Given the description of an element on the screen output the (x, y) to click on. 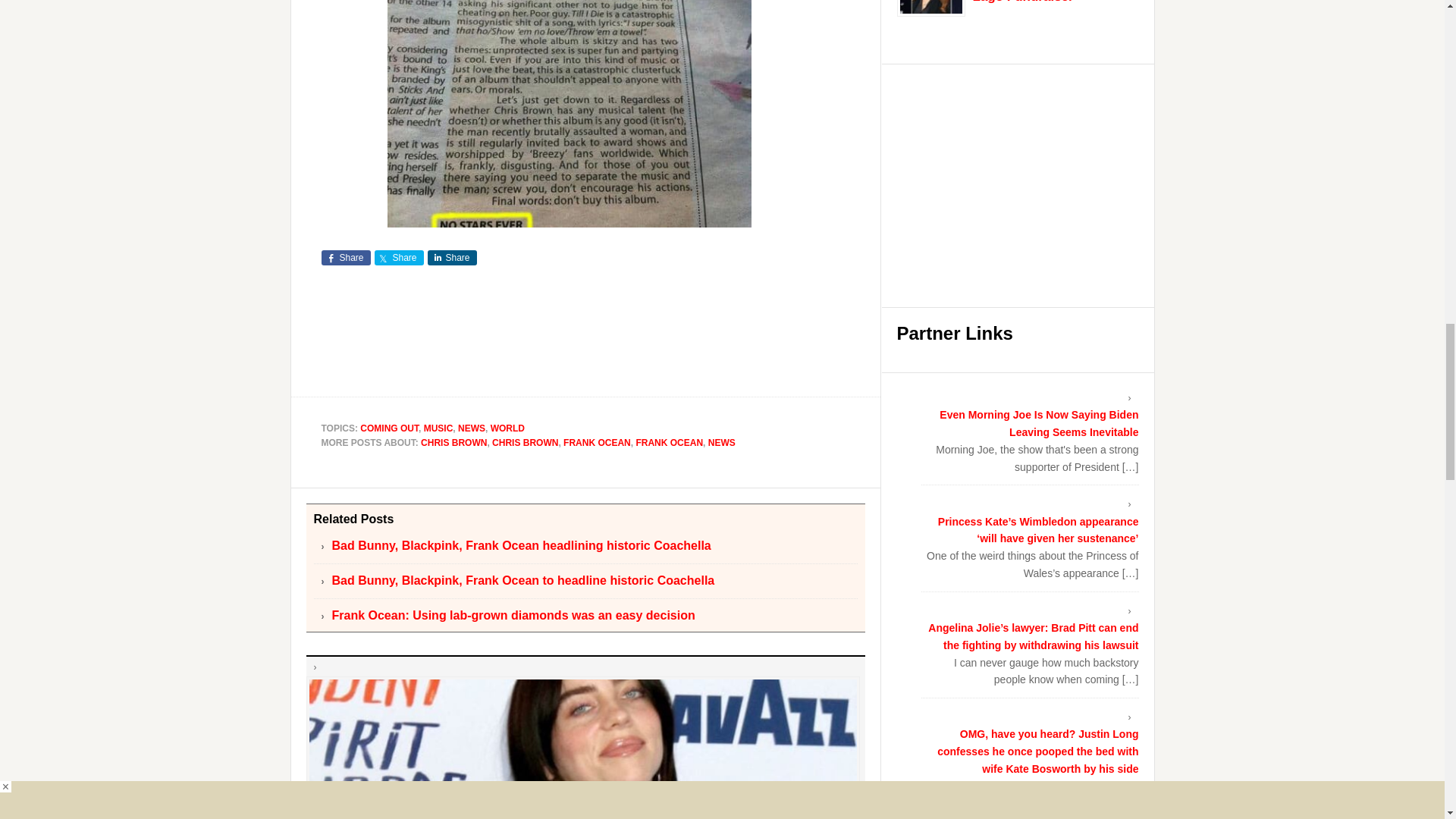
Havercroft (569, 113)
